Given the description of an element on the screen output the (x, y) to click on. 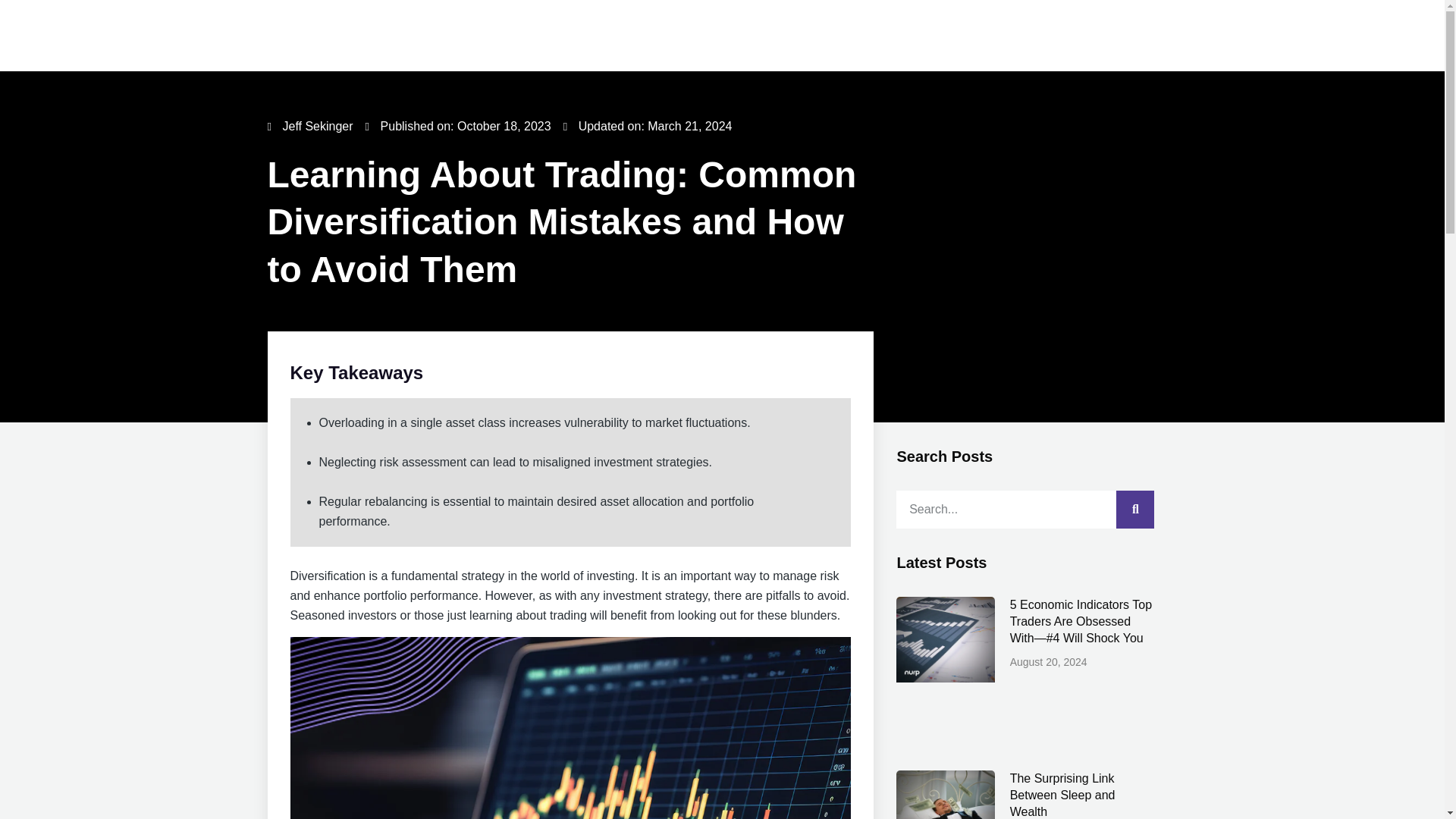
Jeff Sekinger (309, 126)
The Surprising Link Between Sleep and Wealth (1062, 795)
 - Nurp.com (569, 728)
